Given the description of an element on the screen output the (x, y) to click on. 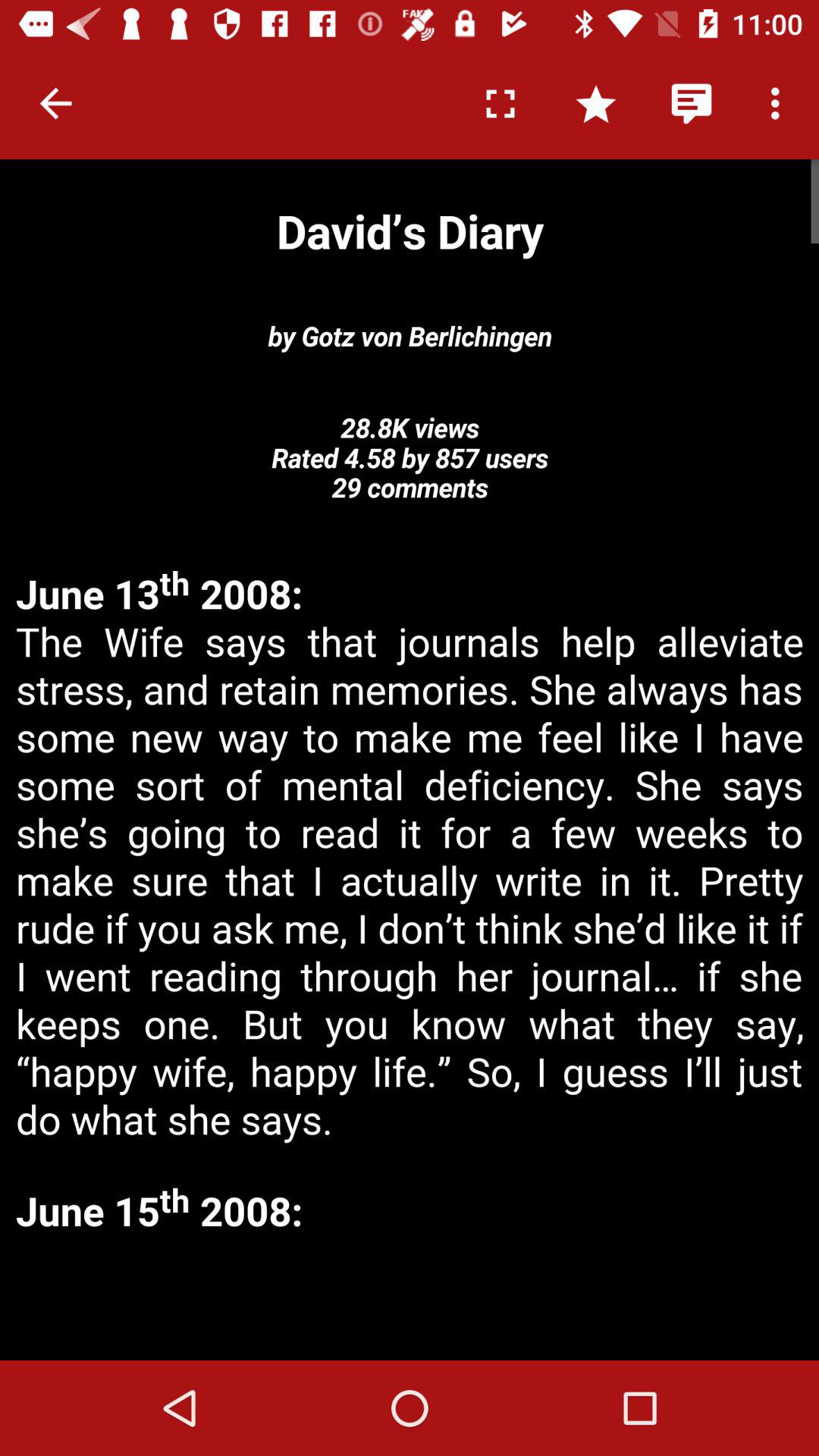
click to begin typing (409, 1300)
